Given the description of an element on the screen output the (x, y) to click on. 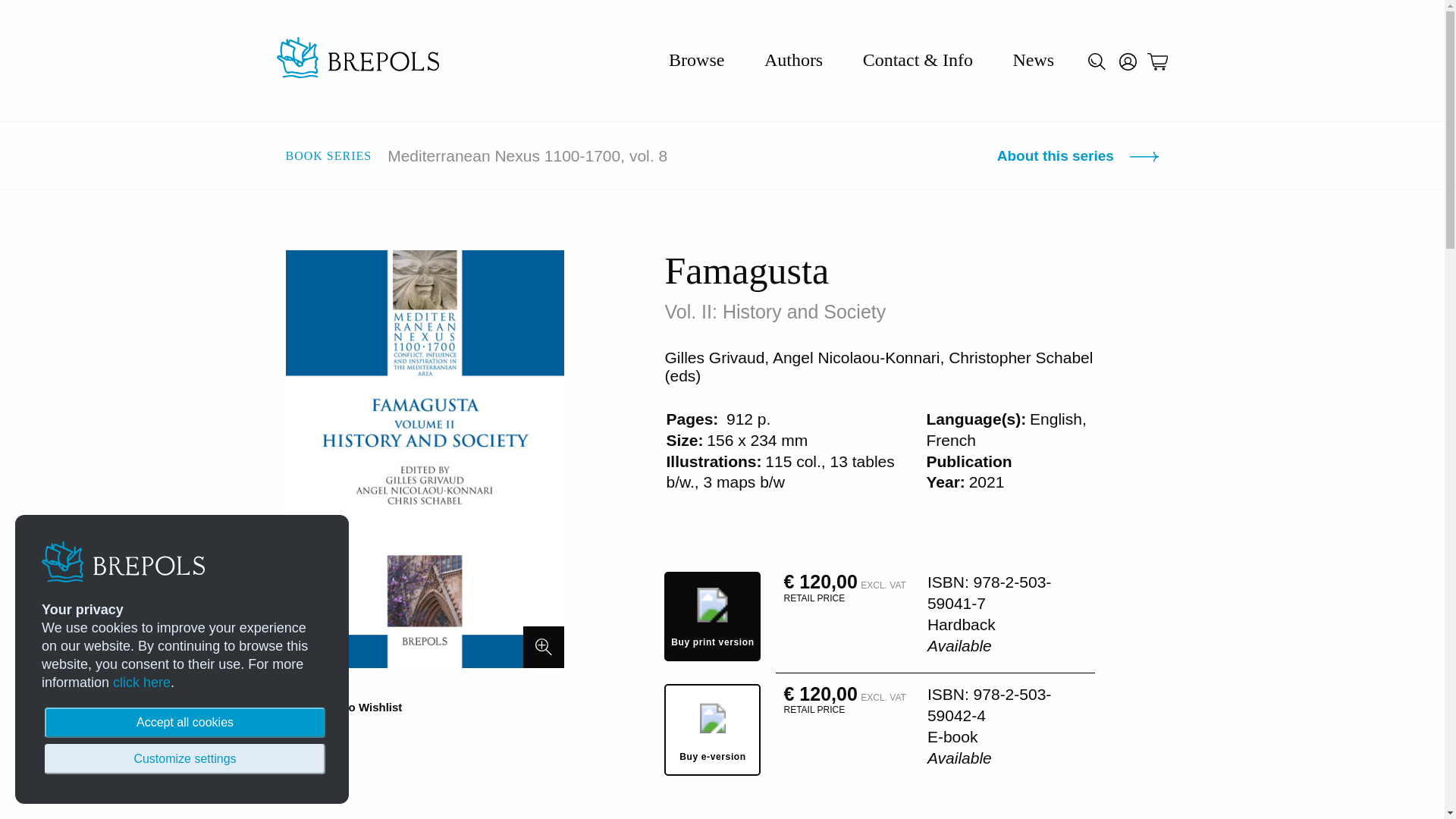
Buy e-version (711, 729)
Gilles Grivaud (713, 357)
Brepols Publishers (357, 59)
Angel Nicolaou-Konnari (856, 357)
Authors (793, 59)
Browse (695, 59)
Buy print version (711, 615)
Submit (1113, 109)
Add to Wishlist (343, 707)
Authors (793, 59)
About this series (1077, 155)
Contact (917, 59)
Christopher Schabel (1021, 357)
Browse (695, 59)
Submit (1113, 109)
